Given the description of an element on the screen output the (x, y) to click on. 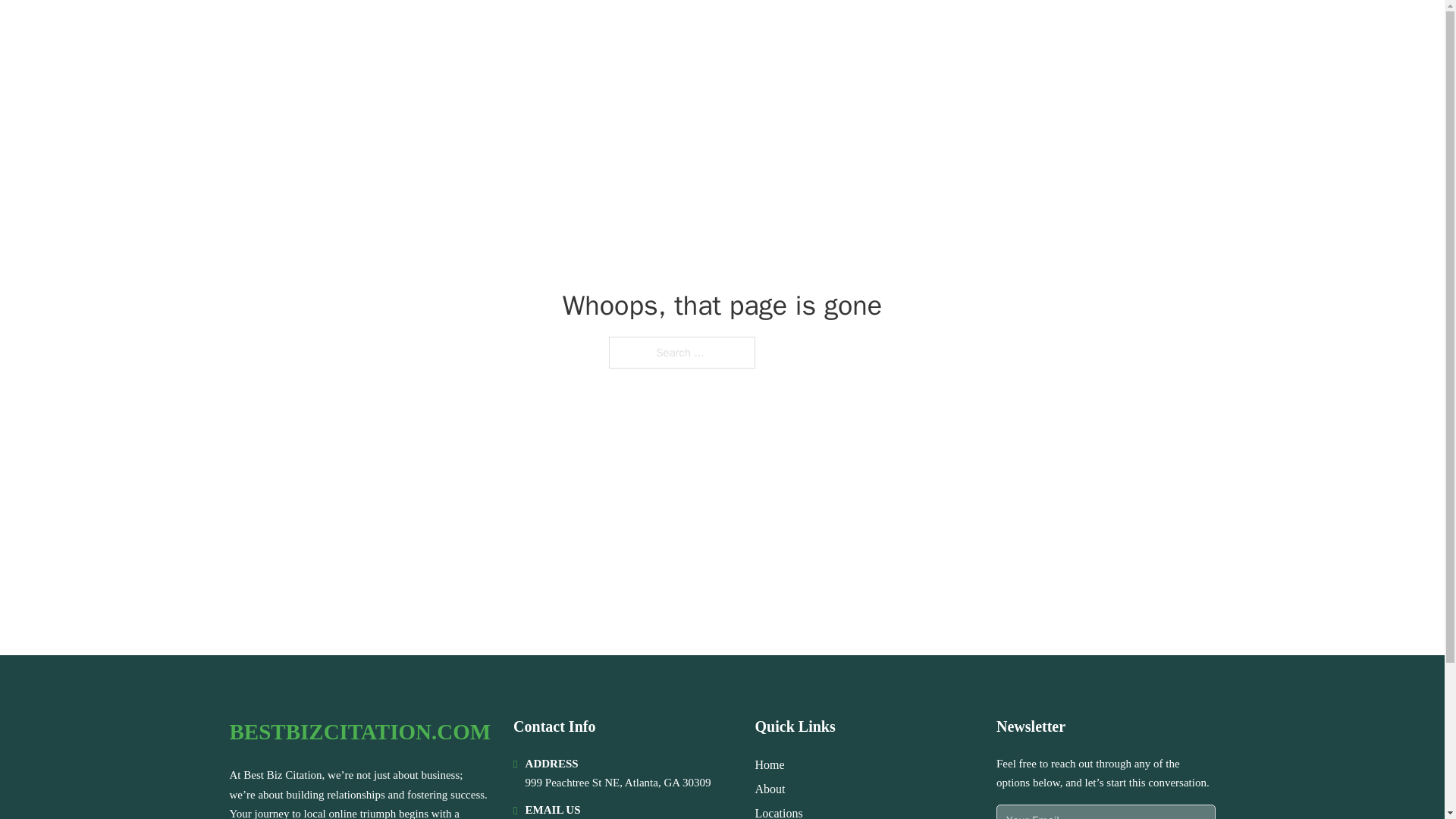
About (770, 788)
Home (769, 764)
Locations (779, 811)
HOME (1025, 31)
BESTBIZCITATION.COM (372, 31)
BESTBIZCITATION.COM (359, 732)
LOCATIONS (1098, 31)
